Given the description of an element on the screen output the (x, y) to click on. 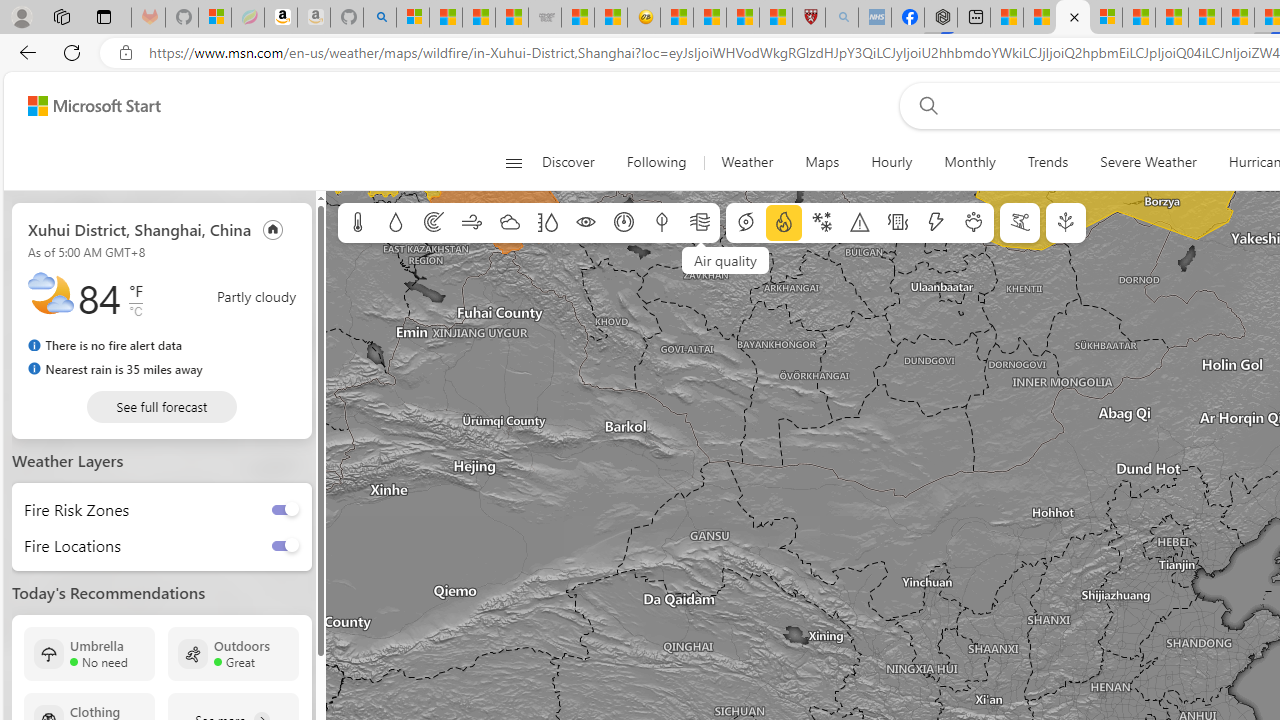
Clouds (509, 223)
Winter weather (821, 223)
Sea level pressure (623, 223)
Maps (822, 162)
Wind (472, 223)
